Given the description of an element on the screen output the (x, y) to click on. 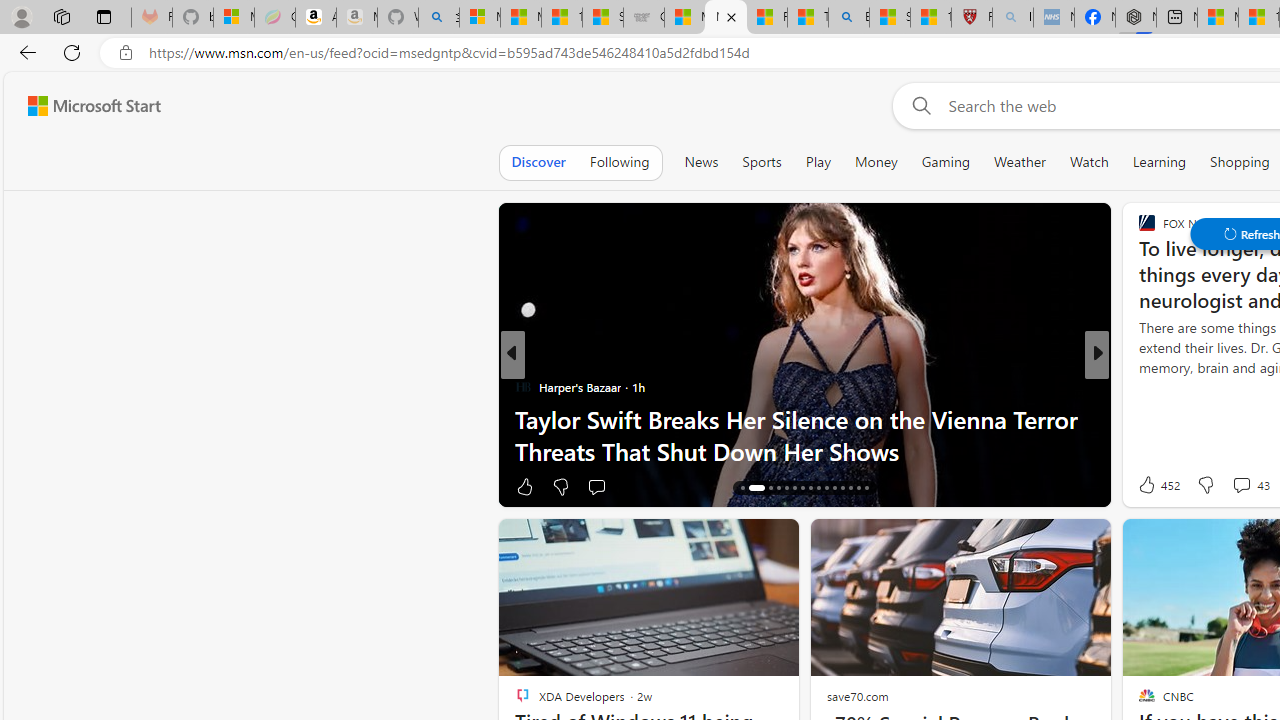
Learning (1159, 162)
View comments 4 Comment (1241, 486)
12 Popular Science Lies that Must be Corrected (931, 17)
View comments 197 Comment (1234, 485)
AutomationID: tab-26 (833, 487)
View comments 7 Comment (1234, 485)
Hide this story (1147, 542)
View comments 197 Comment (1247, 486)
AutomationID: tab-30 (865, 487)
